Given the description of an element on the screen output the (x, y) to click on. 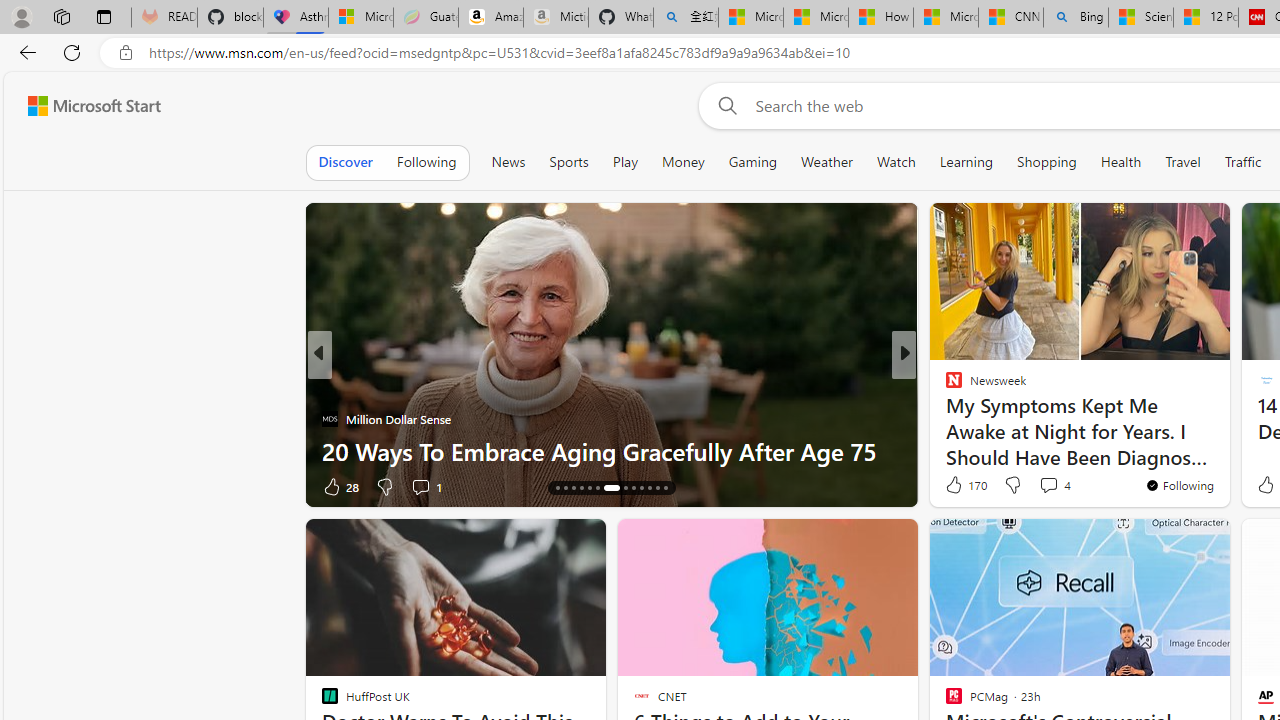
Kinda Frugal (944, 418)
AutomationID: tab-22 (632, 487)
AutomationID: tab-26 (664, 487)
3k Like (955, 486)
AutomationID: tab-24 (649, 487)
76 Like (956, 486)
